Given the description of an element on the screen output the (x, y) to click on. 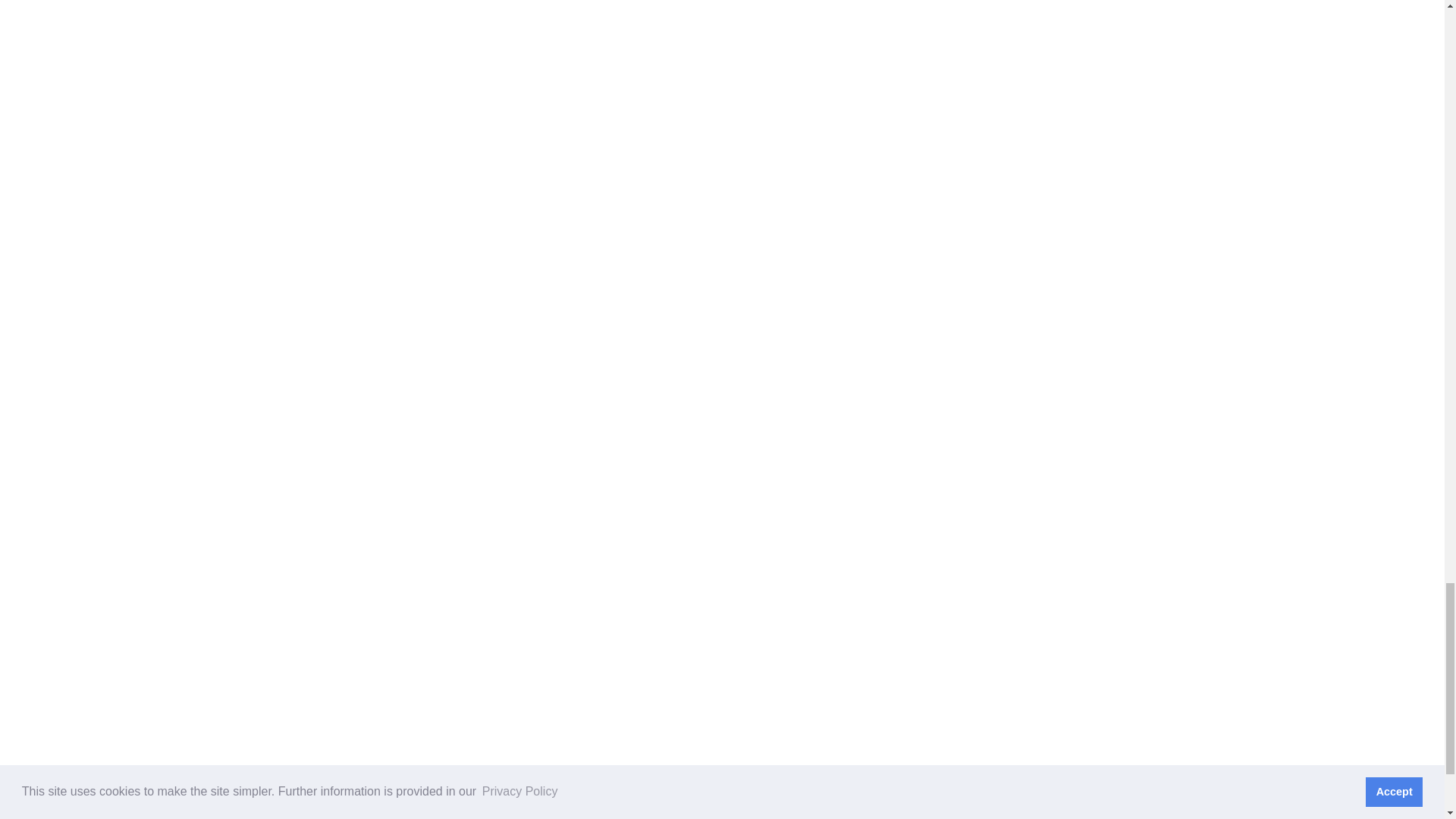
Subscribe (1040, 594)
